Given the description of an element on the screen output the (x, y) to click on. 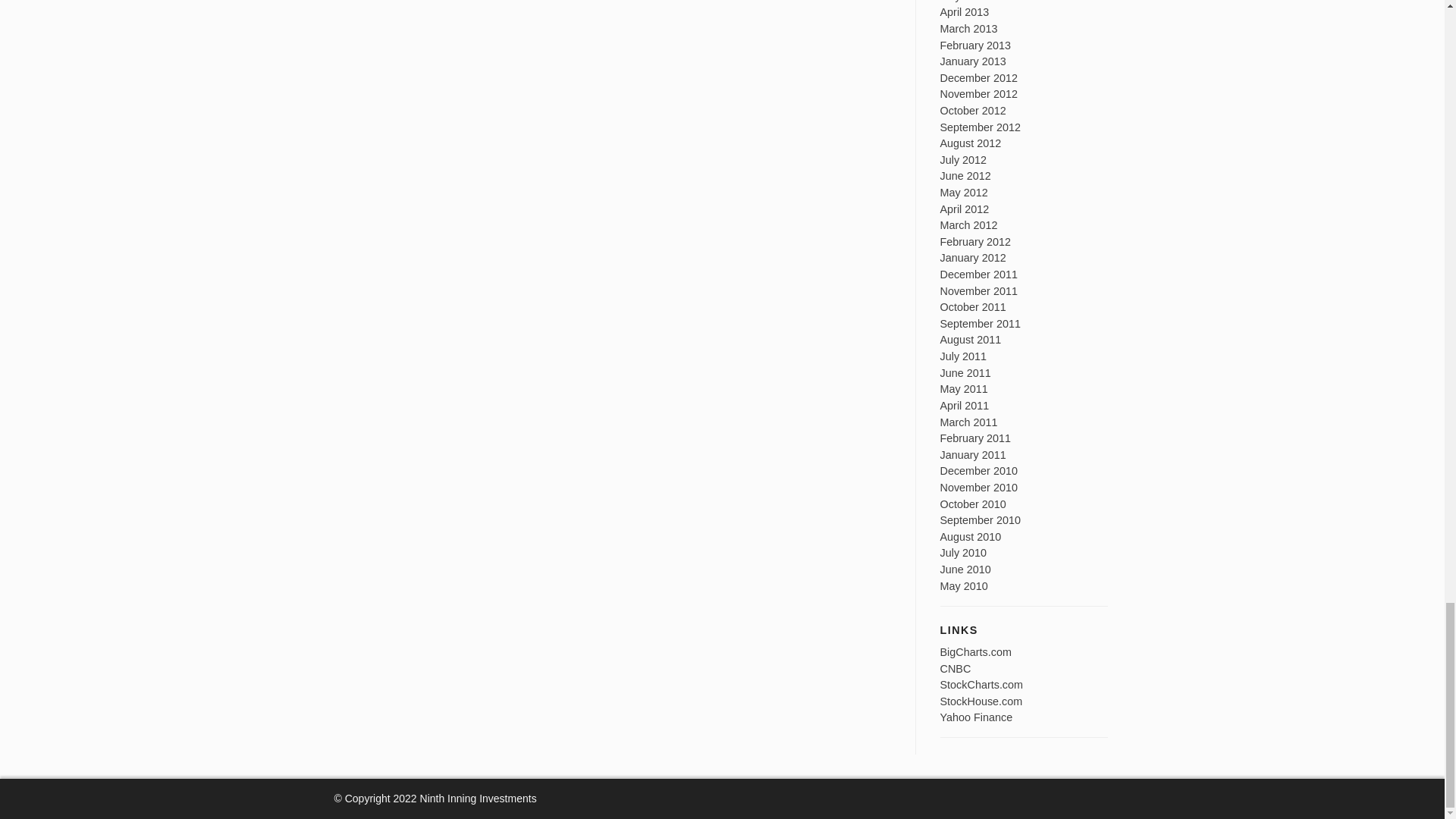
BigCharts.com (975, 652)
CNBC.com (955, 668)
StockHouse.com (981, 701)
StockCharts.com (981, 684)
Yahoo Finance (976, 717)
